Given the description of an element on the screen output the (x, y) to click on. 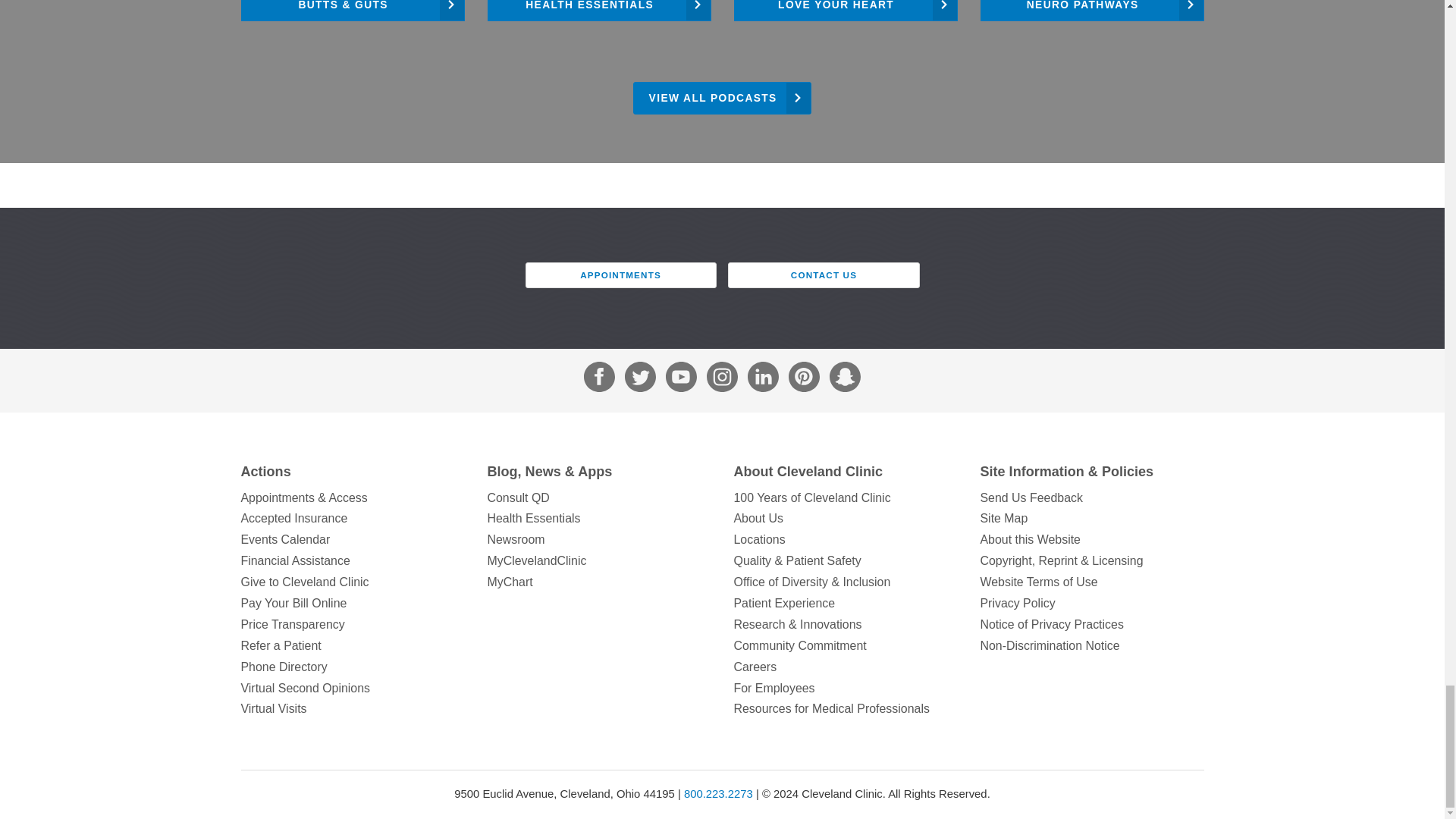
View All Love Your Heart Episodes (845, 10)
Consult QD (598, 497)
Accepted Insurance (352, 518)
Price Transparency (352, 624)
View All Health Essentials Episodes (598, 10)
Pay Your Bill (352, 603)
Appointments (352, 497)
View All Neuro Pathways Episodes (1091, 10)
Phone Directory (352, 667)
